Given the description of an element on the screen output the (x, y) to click on. 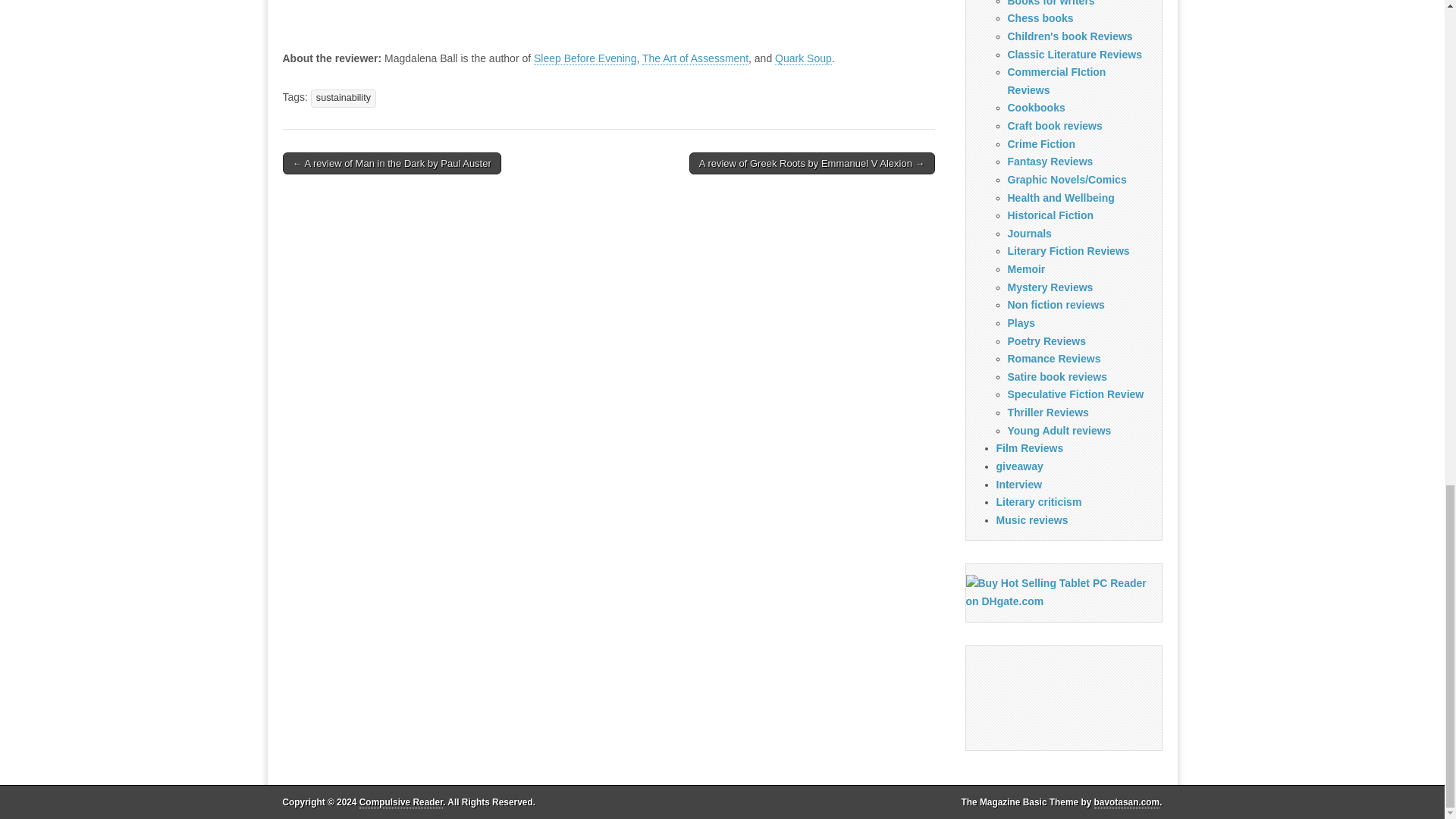
Classic Literature Reviews (1074, 54)
Quark Soup (802, 58)
Fantasy Reviews (1050, 161)
Sleep Before Evening (585, 58)
sustainability (343, 98)
Craft book reviews (1054, 125)
Chess books (1040, 18)
Children's book Reviews (1069, 36)
Cookbooks (1035, 107)
The Art of Assessment (695, 58)
Commercial FIction Reviews (1056, 81)
Crime Fiction (1040, 143)
Books for writers (1050, 3)
